Given the description of an element on the screen output the (x, y) to click on. 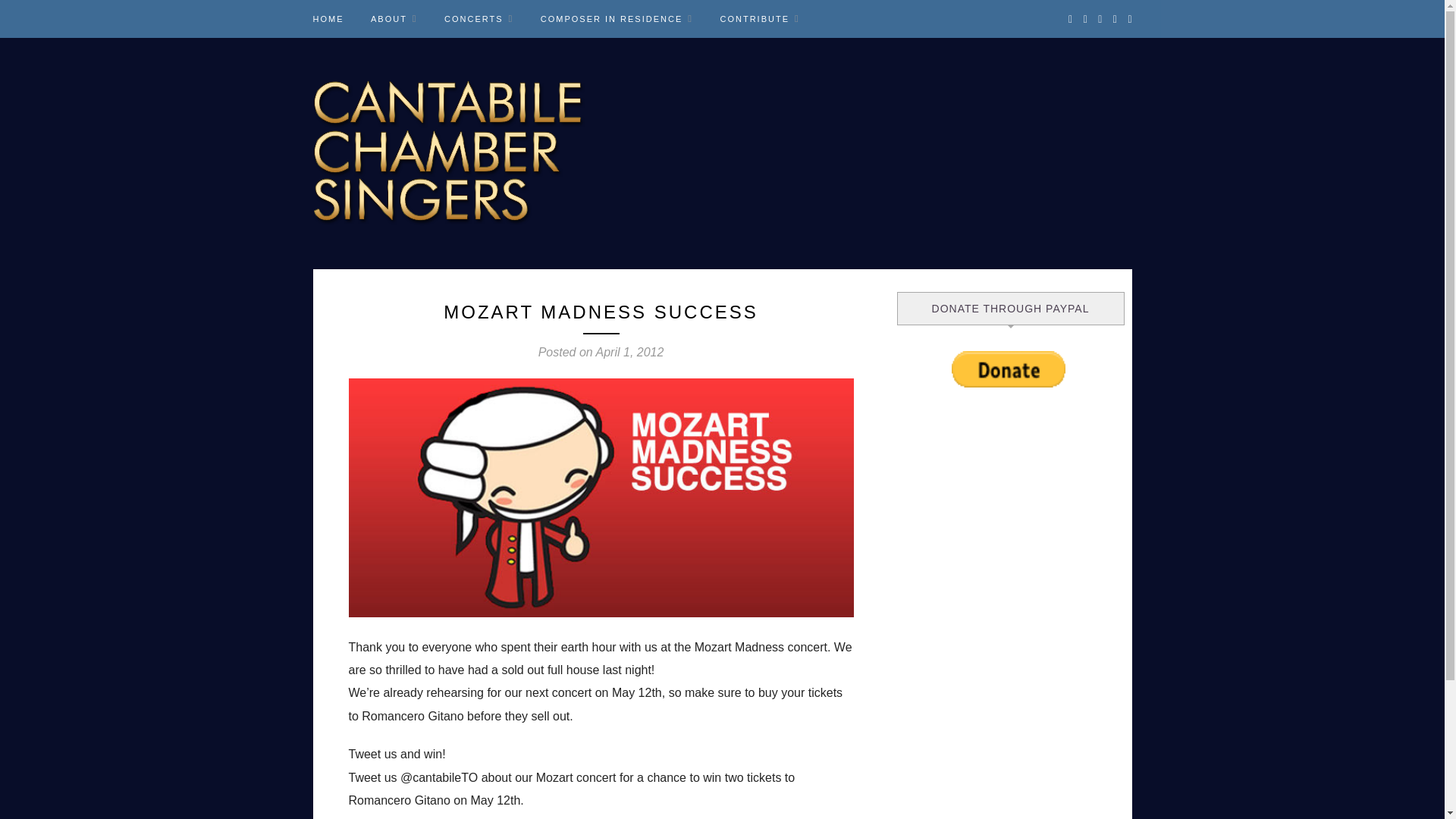
ABOUT (394, 18)
PayPal - The safer, easier way to pay online! (1008, 368)
COMPOSER IN RESIDENCE (616, 18)
CONTRIBUTE (759, 18)
CONCERTS (478, 18)
